Given the description of an element on the screen output the (x, y) to click on. 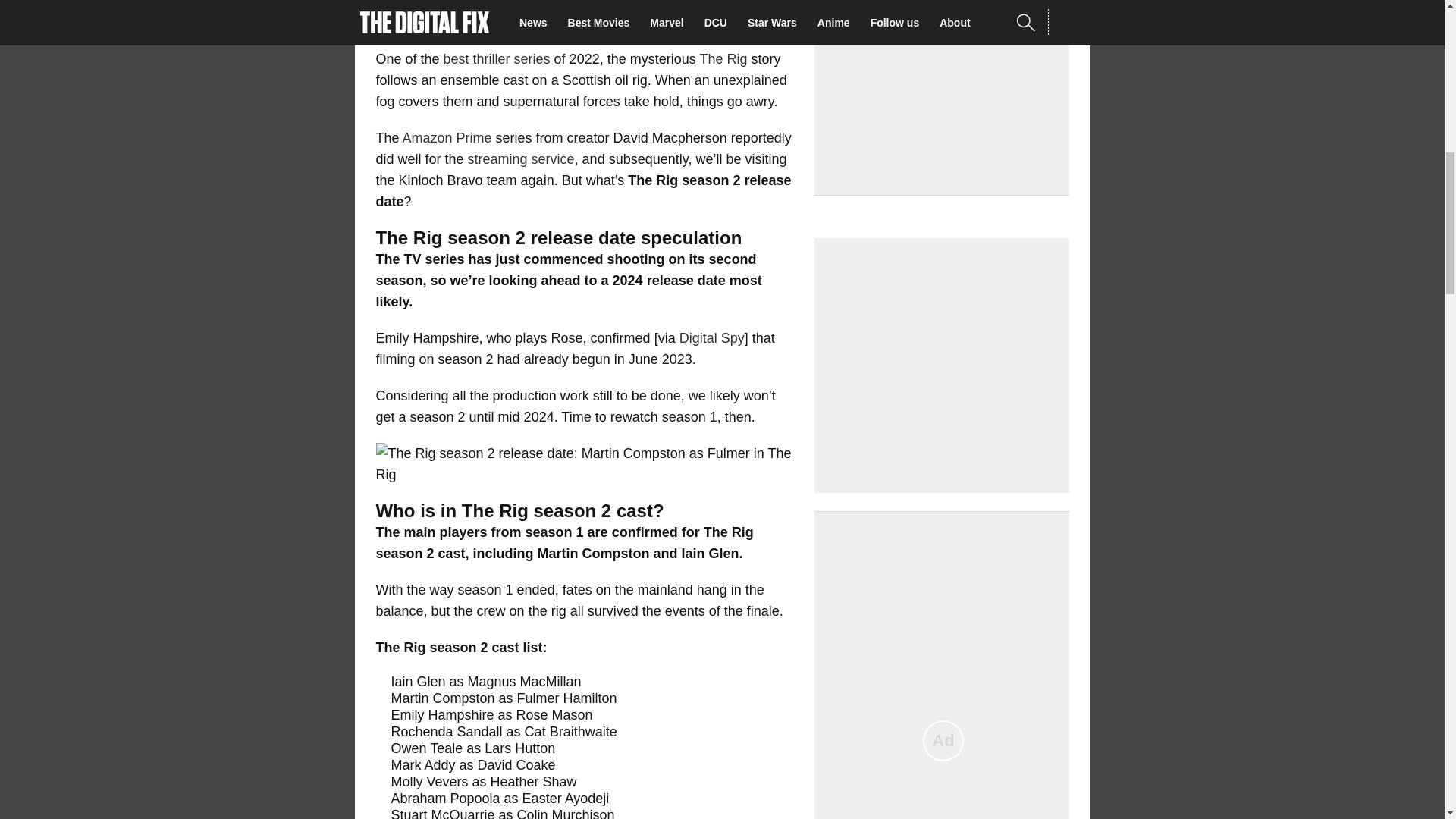
The Rig (722, 58)
Amazon Prime (447, 137)
Digital Spy (711, 337)
streaming service (521, 159)
best thriller series (497, 58)
